Given the description of an element on the screen output the (x, y) to click on. 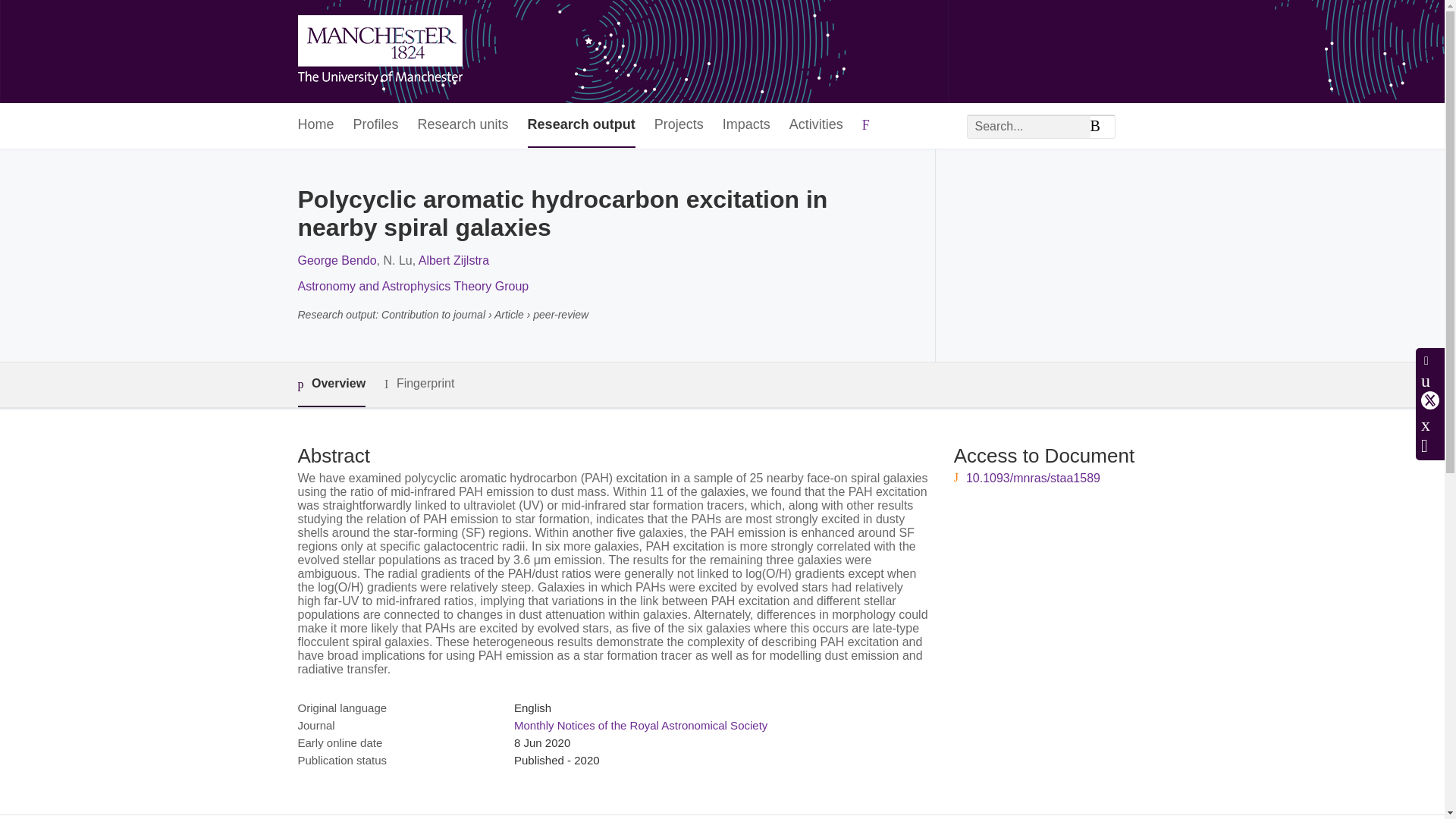
Research units (462, 125)
Impacts (746, 125)
Overview (331, 384)
Fingerprint (419, 383)
George Bendo (336, 259)
Projects (678, 125)
Activities (816, 125)
Astronomy and Astrophysics Theory Group (412, 286)
Research output (580, 125)
